Given the description of an element on the screen output the (x, y) to click on. 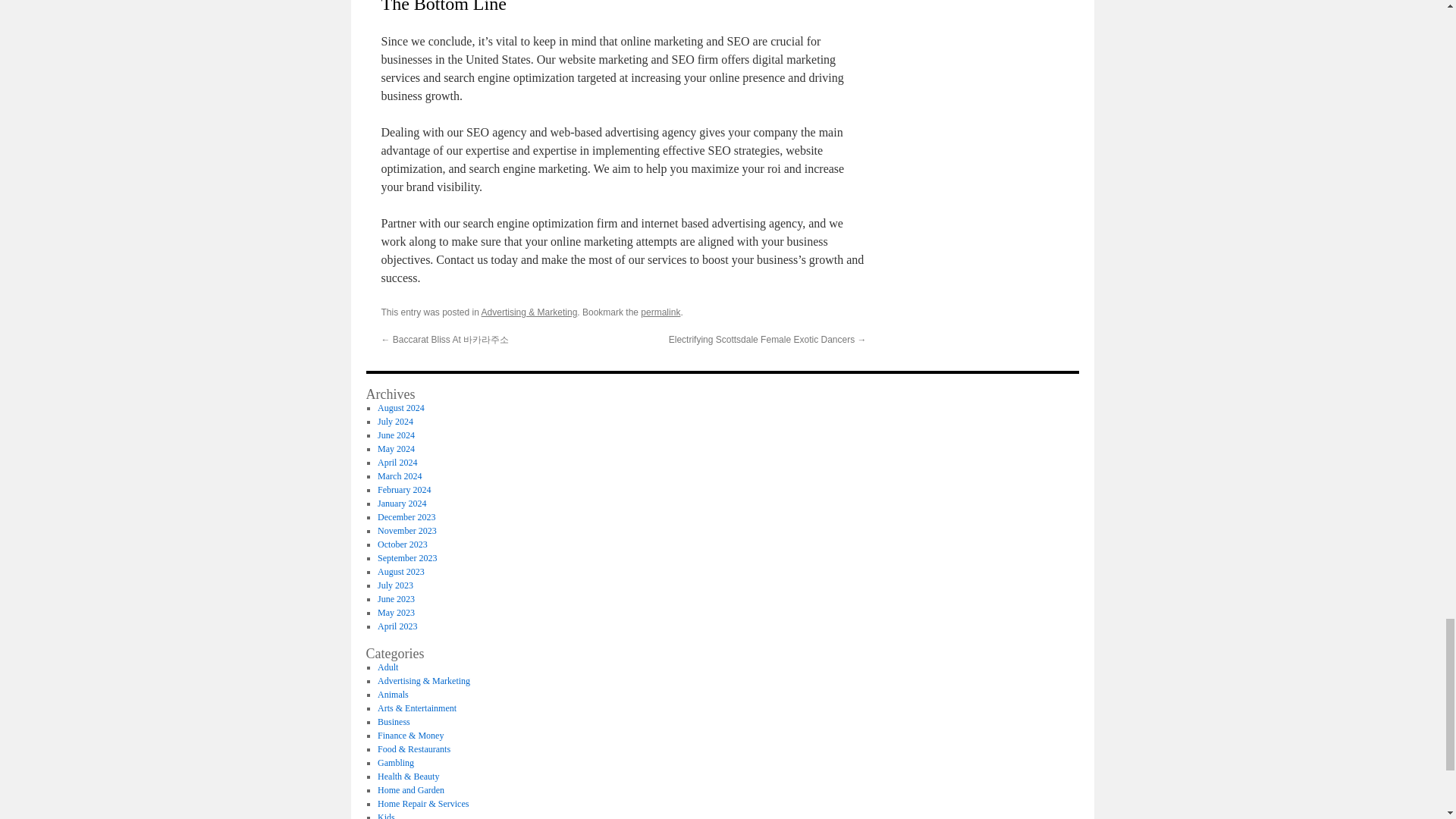
December 2023 (406, 516)
permalink (659, 312)
May 2023 (395, 612)
March 2024 (399, 475)
May 2024 (395, 448)
June 2024 (395, 434)
April 2024 (396, 462)
July 2024 (395, 421)
February 2024 (403, 489)
September 2023 (406, 557)
